Given the description of an element on the screen output the (x, y) to click on. 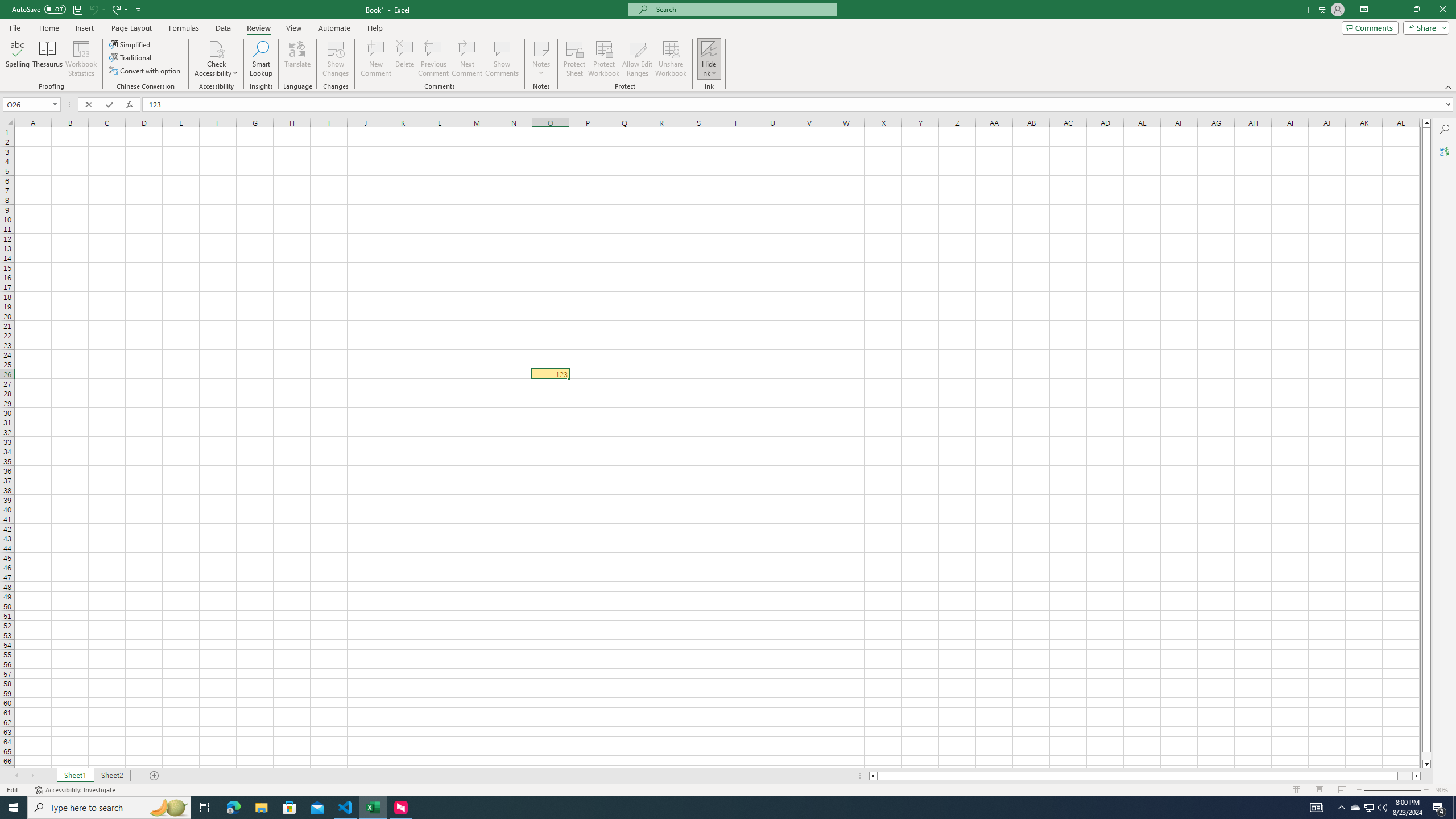
Quick Access Toolbar (77, 9)
Accessibility Checker Accessibility: Investigate (76, 790)
Restore Down (1416, 9)
Share (1423, 27)
Sheet1 (74, 775)
Column right (1417, 775)
Check Accessibility (215, 48)
Page Layout (131, 28)
Formula Bar (799, 104)
More Options (708, 68)
Sheet2 (112, 775)
Next Comment (466, 58)
View (293, 28)
Scroll Right (32, 775)
Hide Ink (708, 58)
